Given the description of an element on the screen output the (x, y) to click on. 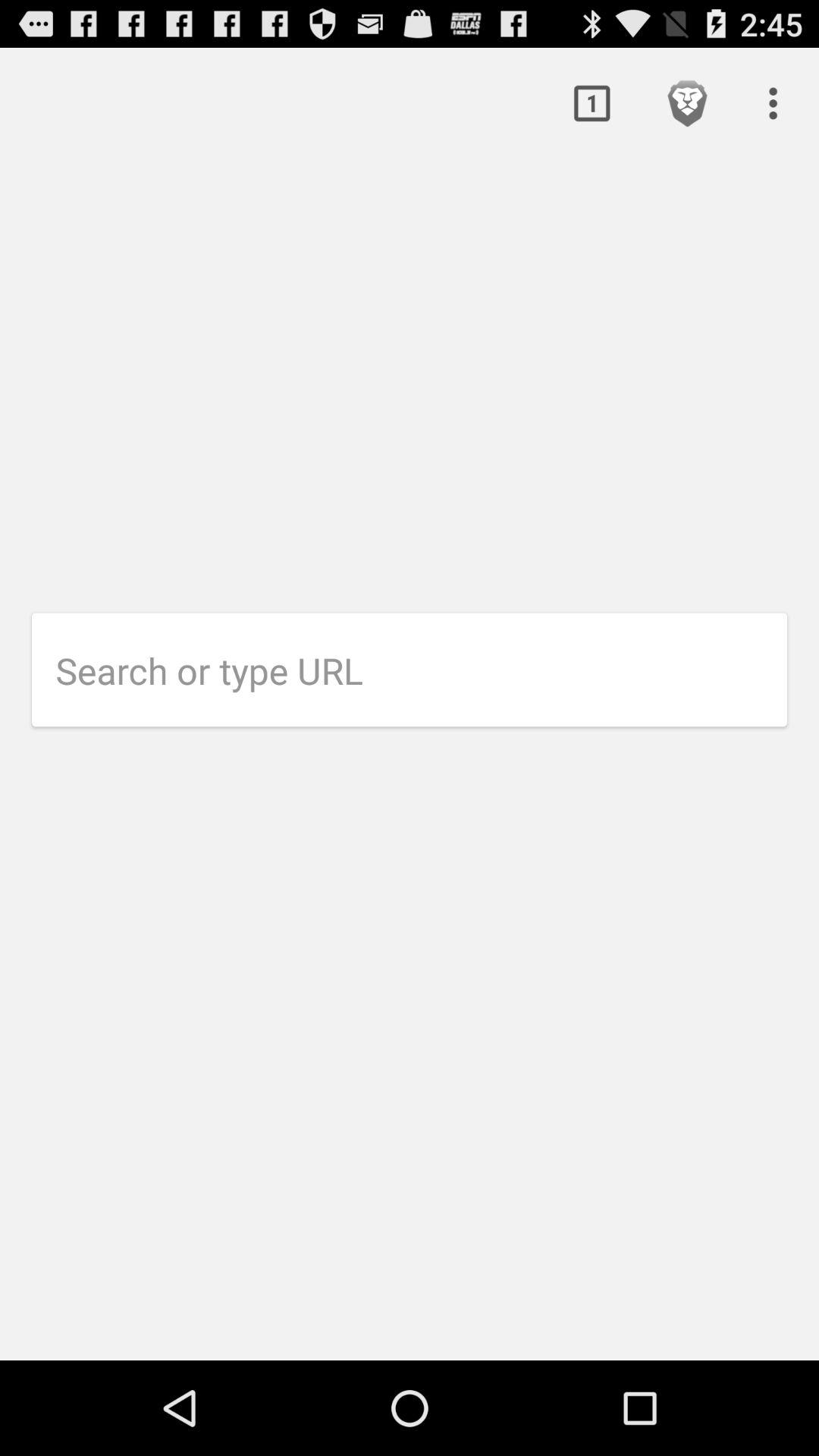
enter url (421, 670)
